Given the description of an element on the screen output the (x, y) to click on. 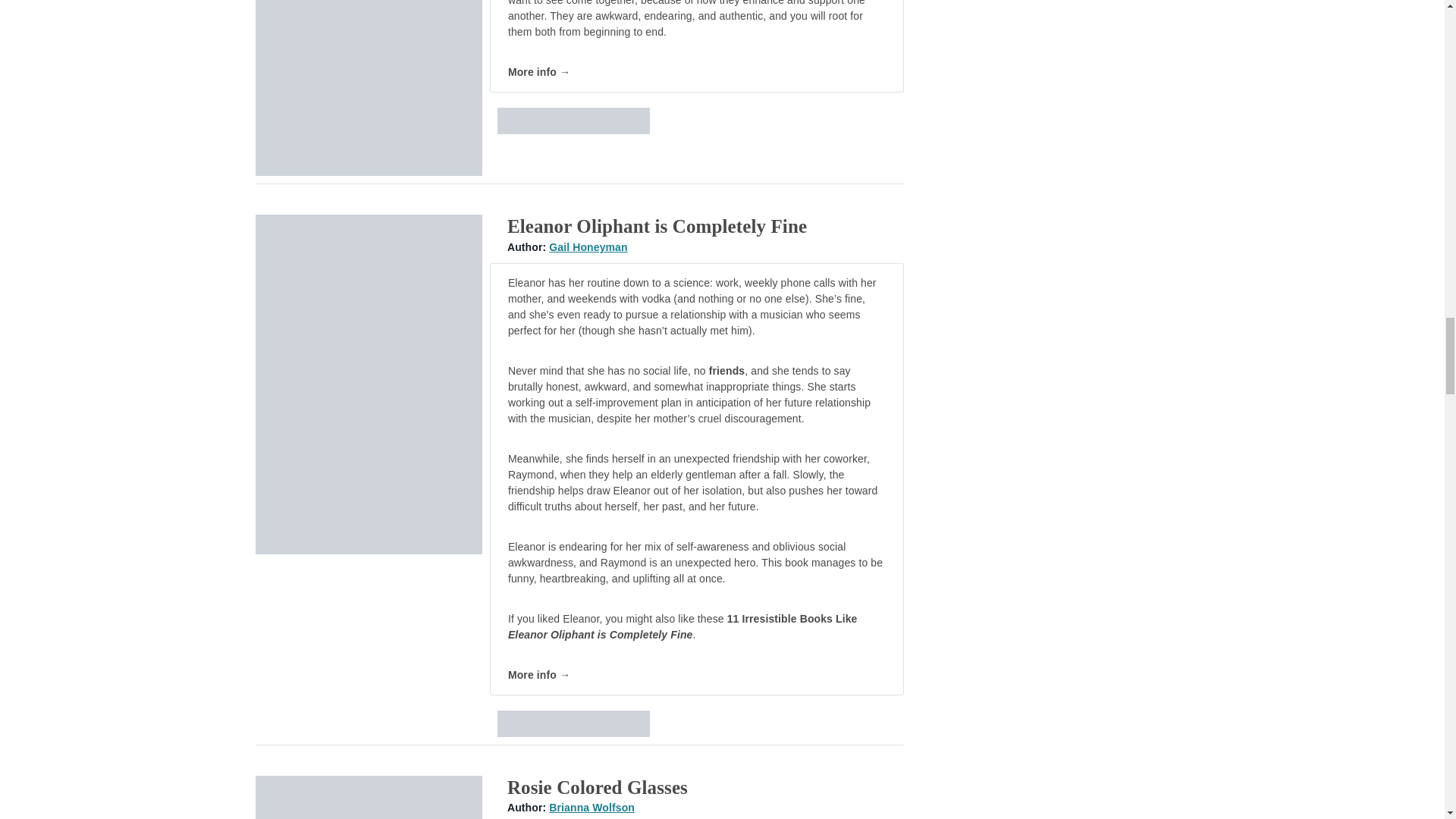
friends (726, 370)
